Given the description of an element on the screen output the (x, y) to click on. 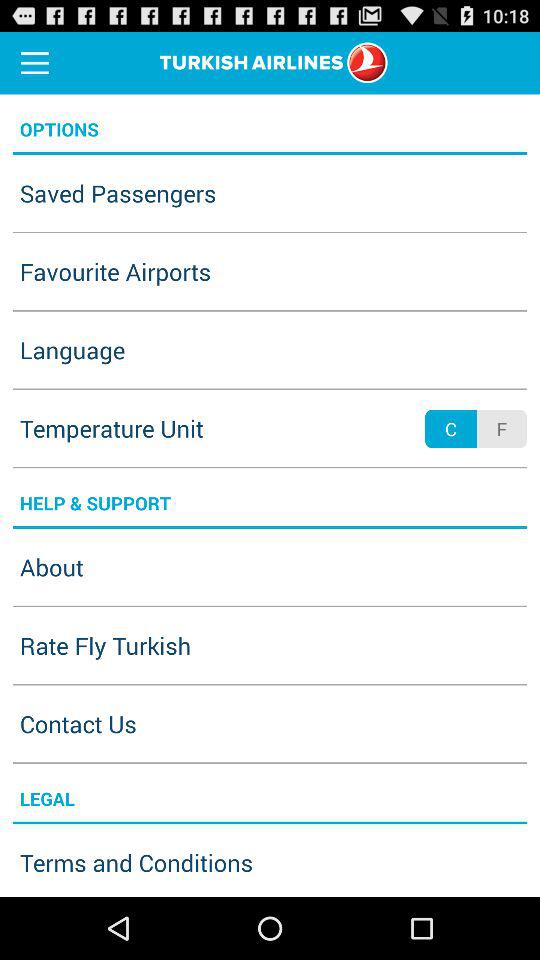
press f icon (501, 428)
